Given the description of an element on the screen output the (x, y) to click on. 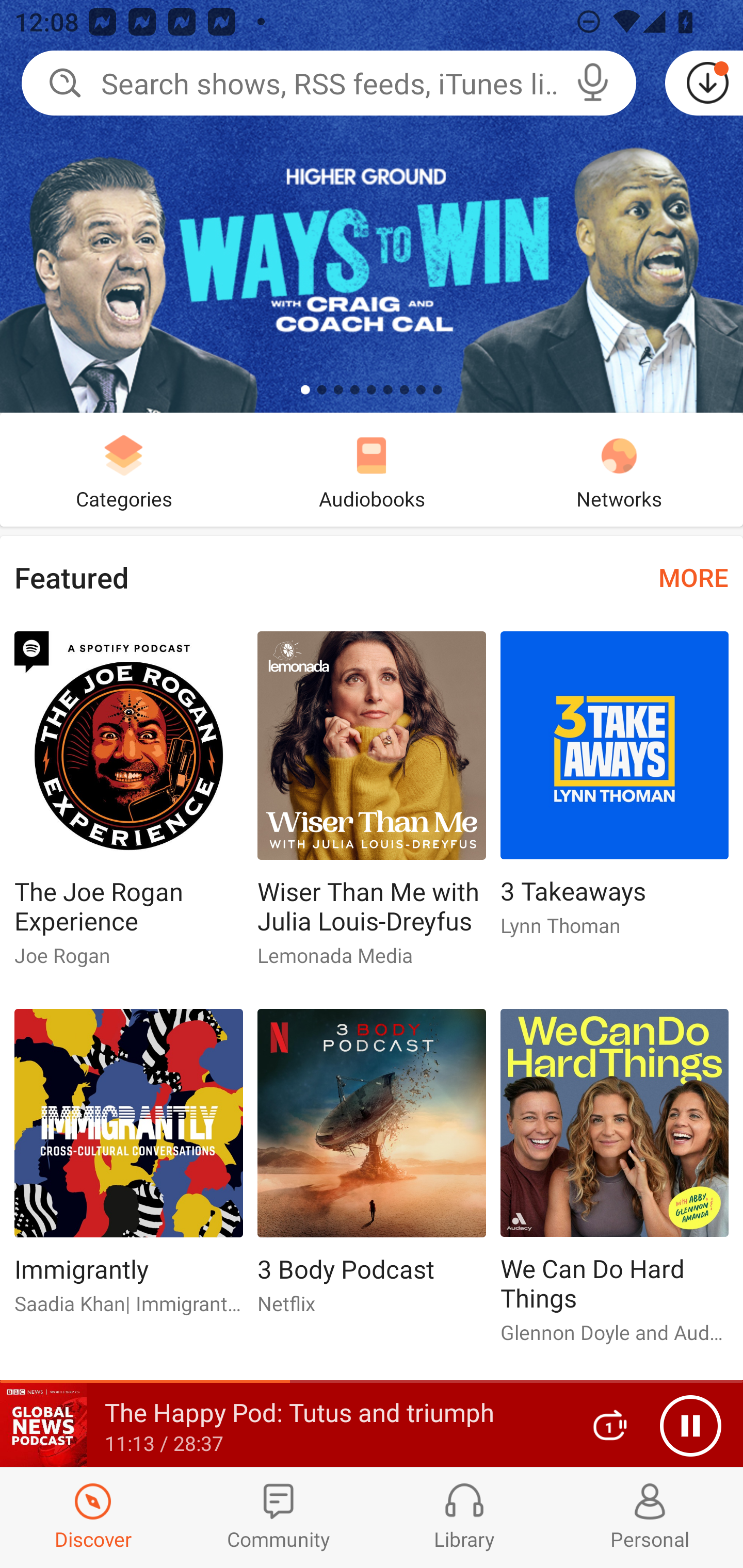
Ways To Win (371, 206)
Categories (123, 469)
Audiobooks (371, 469)
Networks (619, 469)
MORE (693, 576)
3 Takeaways 3 Takeaways Lynn Thoman (614, 792)
3 Body Podcast 3 Body Podcast Netflix (371, 1169)
The Happy Pod: Tutus and triumph 11:13 / 28:37 (283, 1424)
Pause (690, 1425)
Discover (92, 1517)
Community (278, 1517)
Library (464, 1517)
Profiles and Settings Personal (650, 1517)
